Given the description of an element on the screen output the (x, y) to click on. 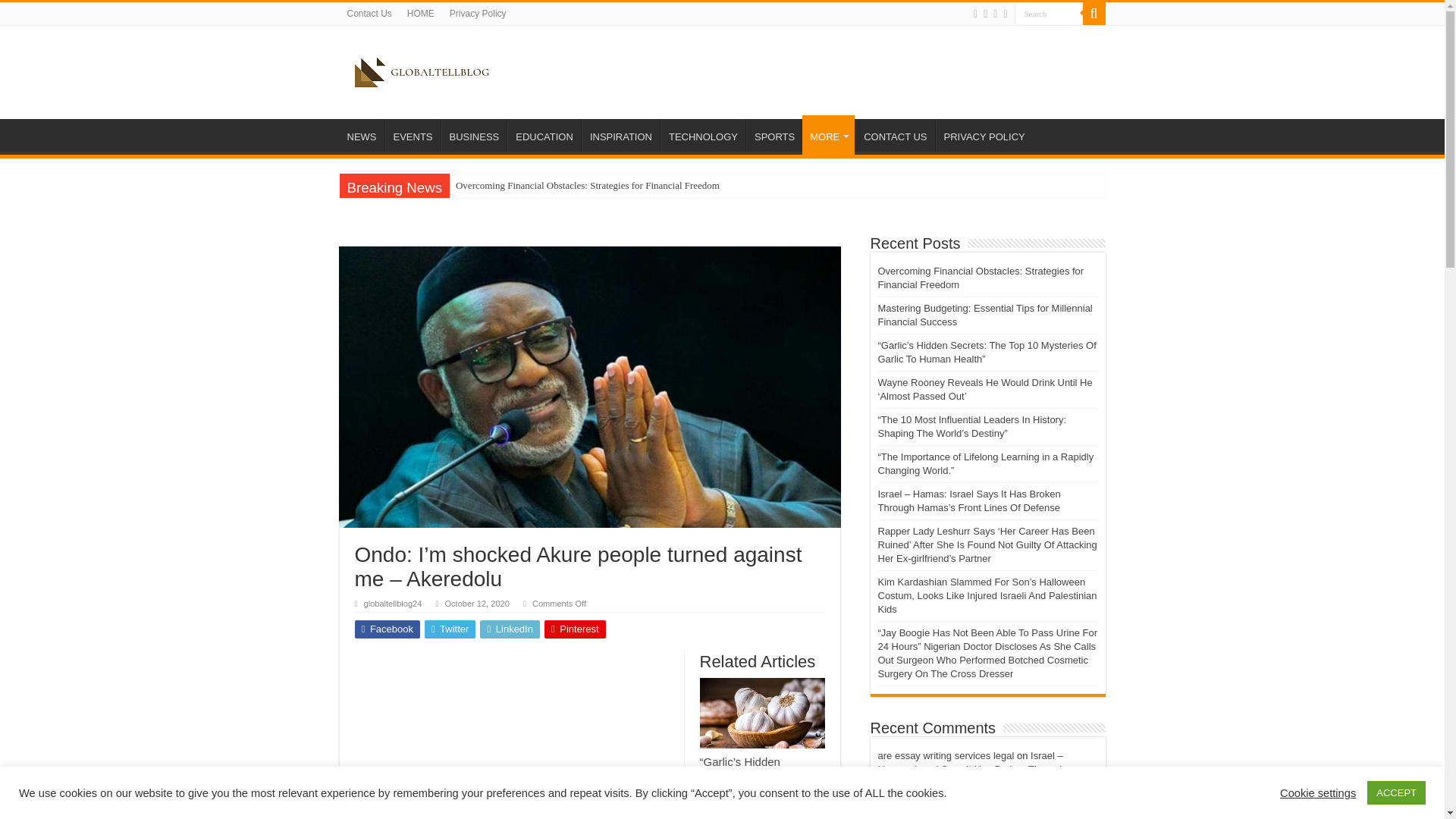
instagram (1005, 13)
MORE (828, 134)
CONTACT US (895, 134)
HOME (420, 13)
BUSINESS (473, 134)
TECHNOLOGY (703, 134)
EVENTS (413, 134)
Twitter (975, 13)
Search (1048, 13)
EDUCATION (543, 134)
Globaltellblog (422, 70)
Search (1048, 13)
NEWS (361, 134)
PRIVACY POLICY (984, 134)
